Given the description of an element on the screen output the (x, y) to click on. 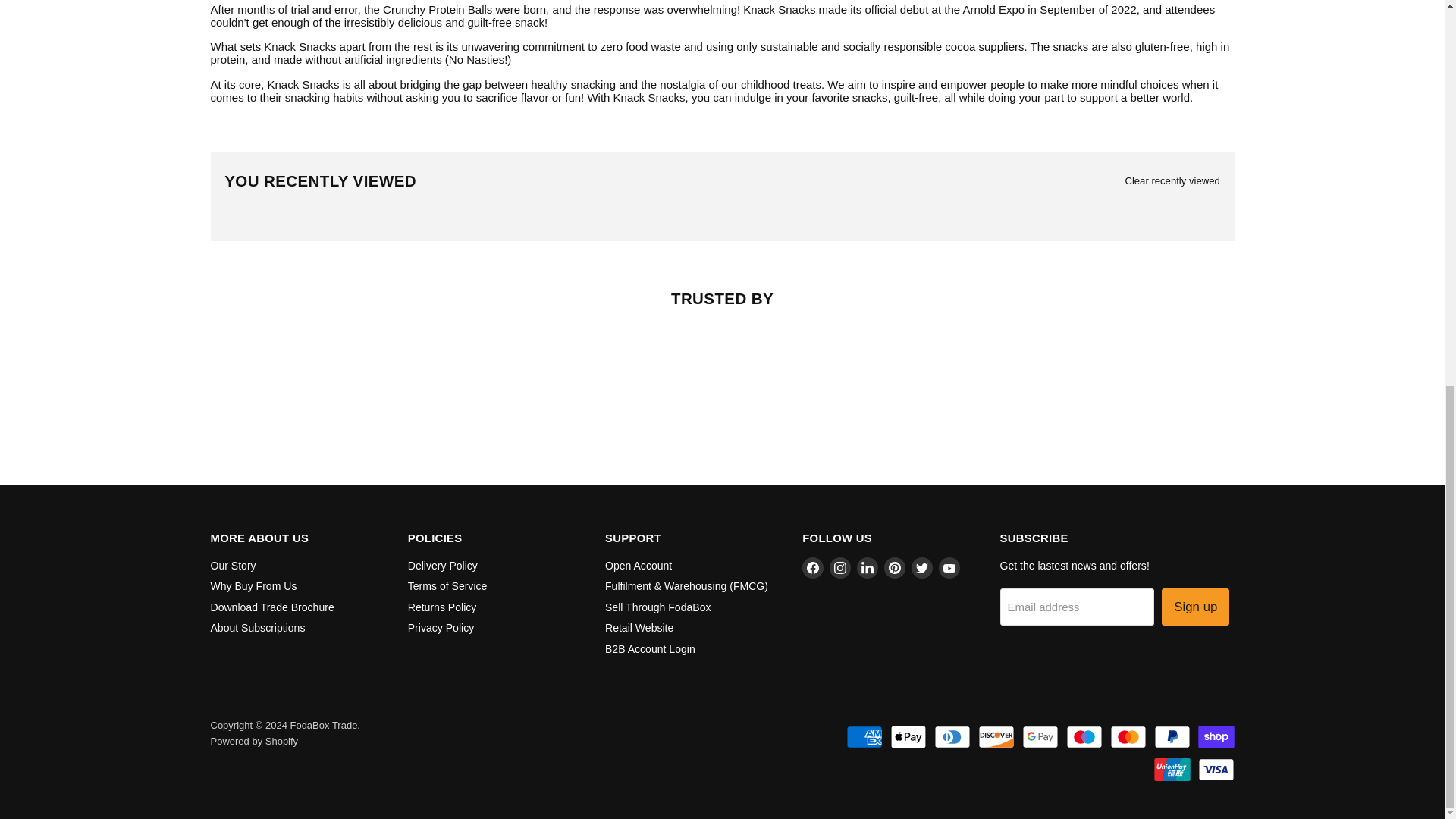
Twitter (922, 567)
YouTube (949, 567)
LinkedIn (867, 567)
Facebook (813, 567)
Instagram (839, 567)
Pinterest (894, 567)
